Given the description of an element on the screen output the (x, y) to click on. 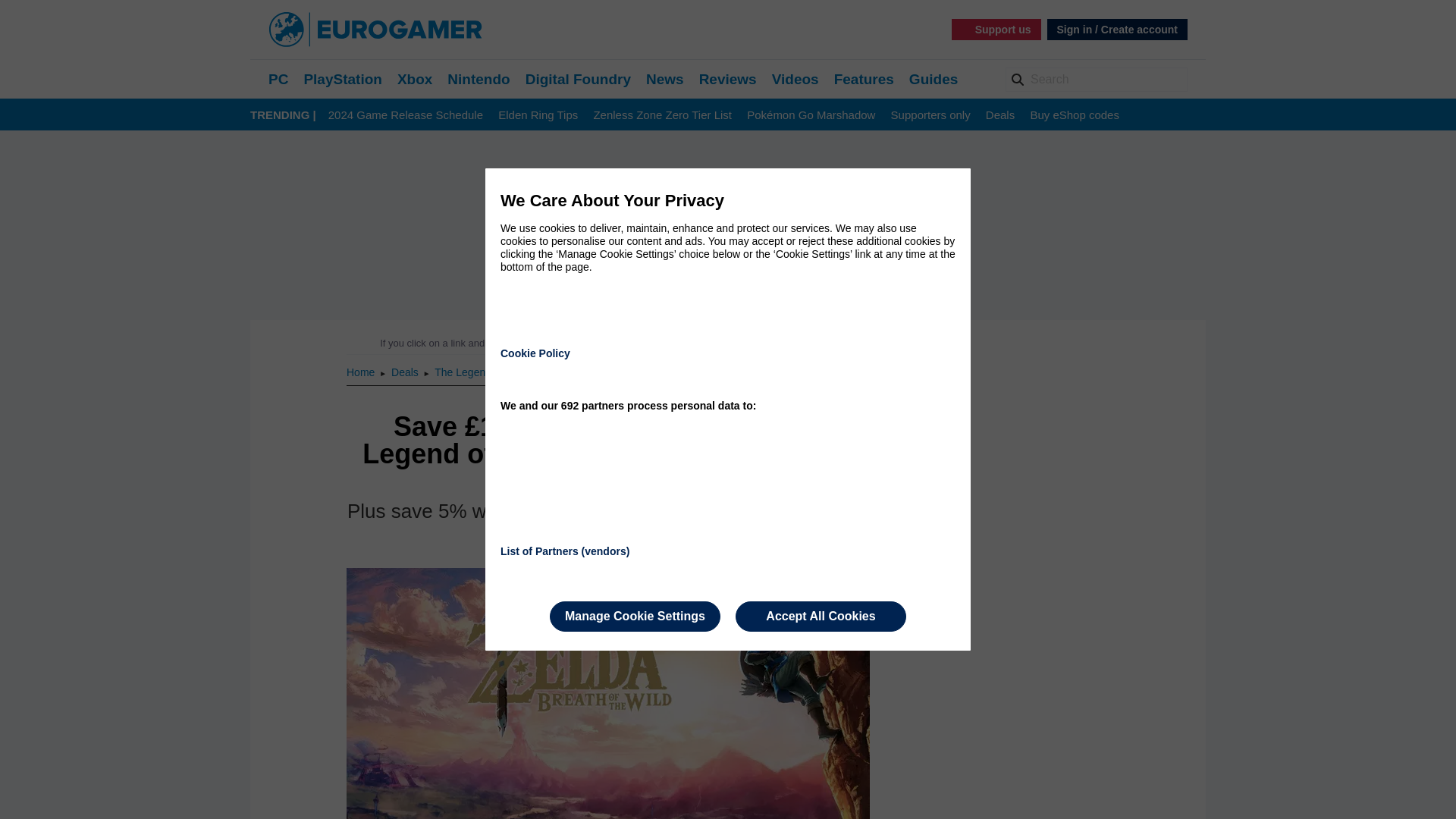
Features (863, 78)
Home (361, 372)
News (665, 78)
Videos (794, 78)
PlayStation (341, 78)
Supporters only (931, 114)
2024 Game Release Schedule (406, 114)
Digital Foundry (577, 78)
2024 Game Release Schedule (406, 114)
Support us (996, 29)
Elden Ring Tips (537, 114)
Buy eShop codes (1074, 114)
Reviews (727, 78)
Digital Foundry (577, 78)
Supporters only (931, 114)
